Given the description of an element on the screen output the (x, y) to click on. 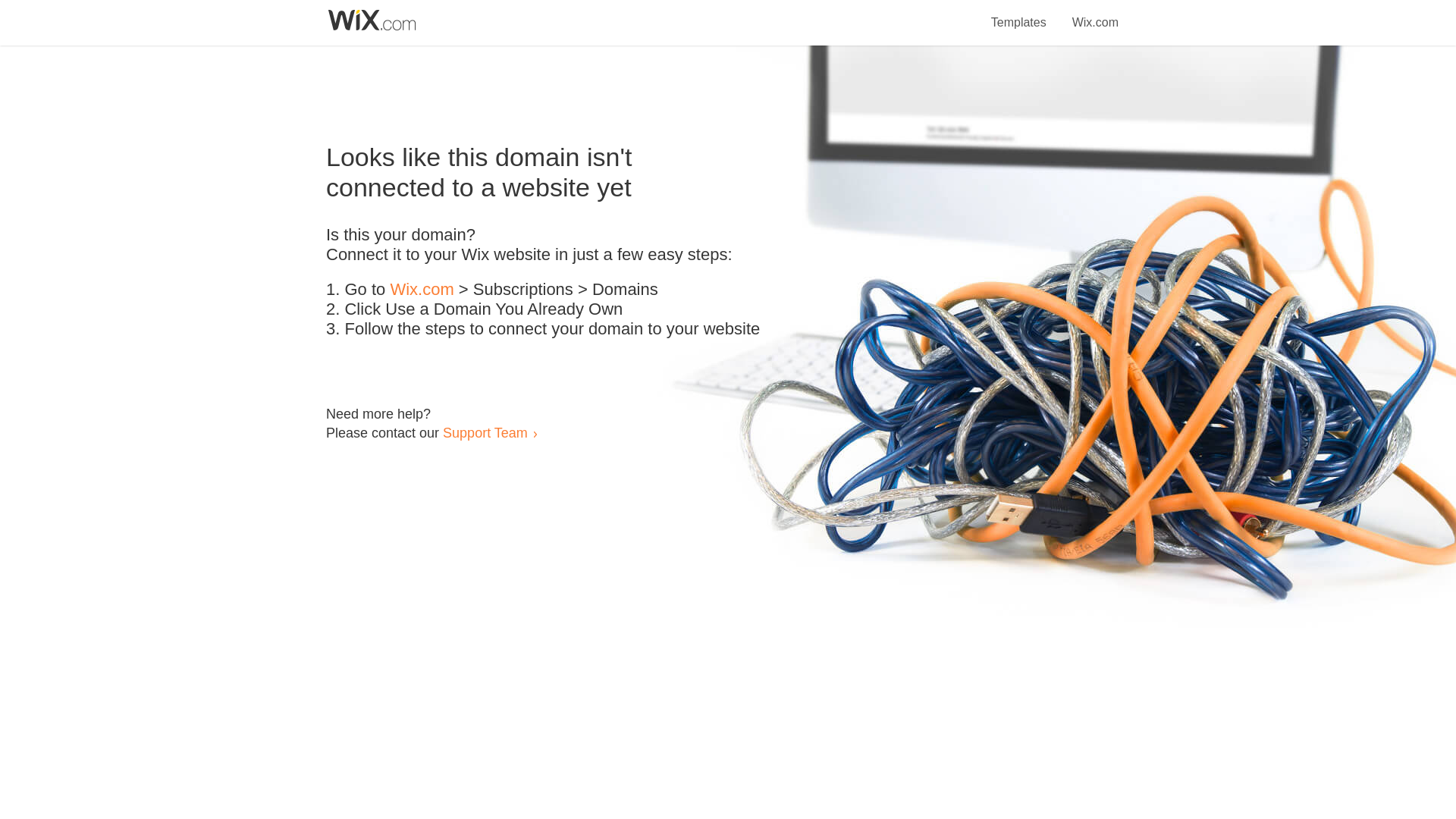
Templates (1018, 14)
Support Team (484, 432)
Wix.com (421, 289)
Wix.com (1095, 14)
